Given the description of an element on the screen output the (x, y) to click on. 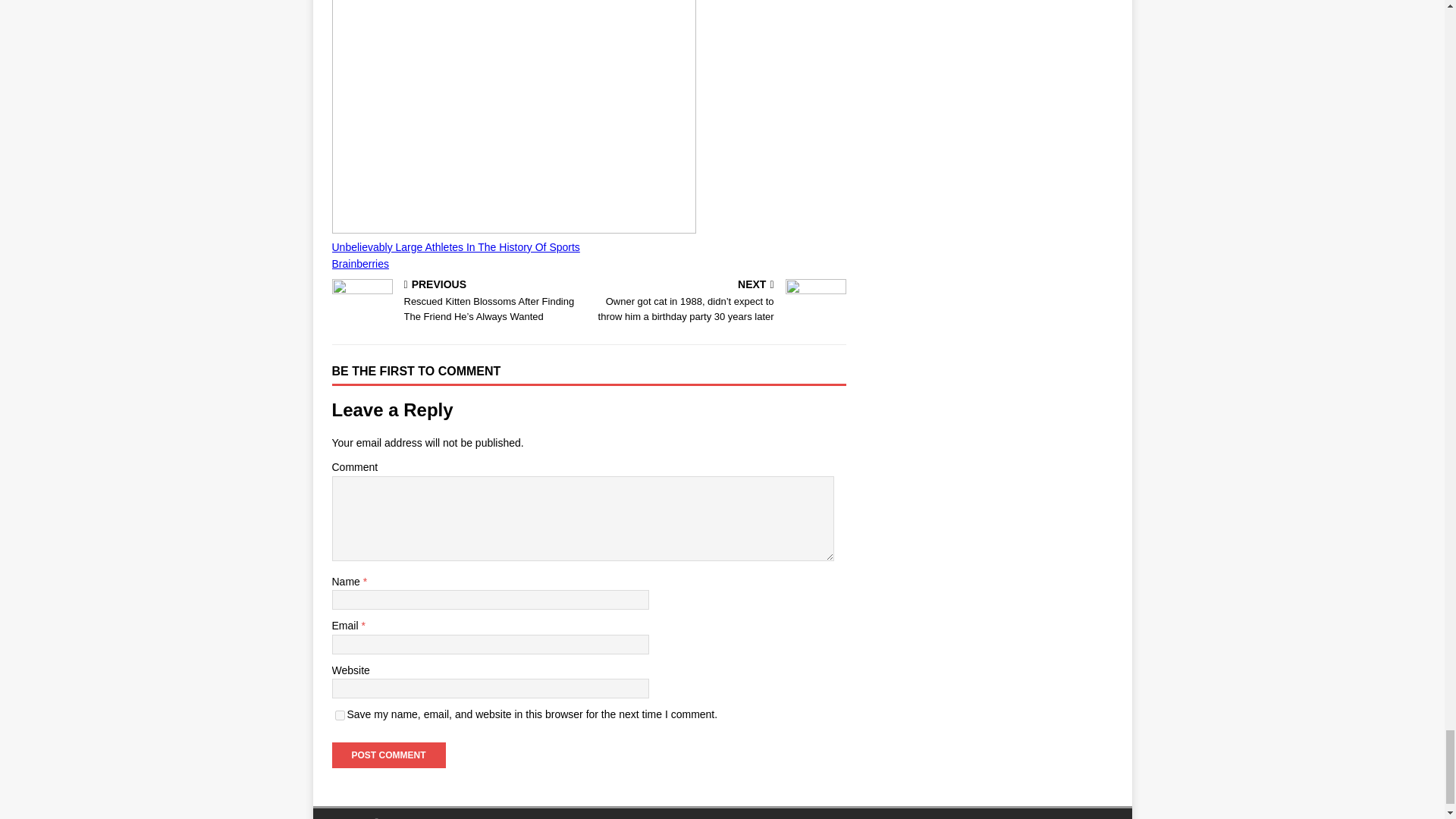
Post Comment (388, 755)
Post Comment (388, 755)
yes (339, 715)
